Given the description of an element on the screen output the (x, y) to click on. 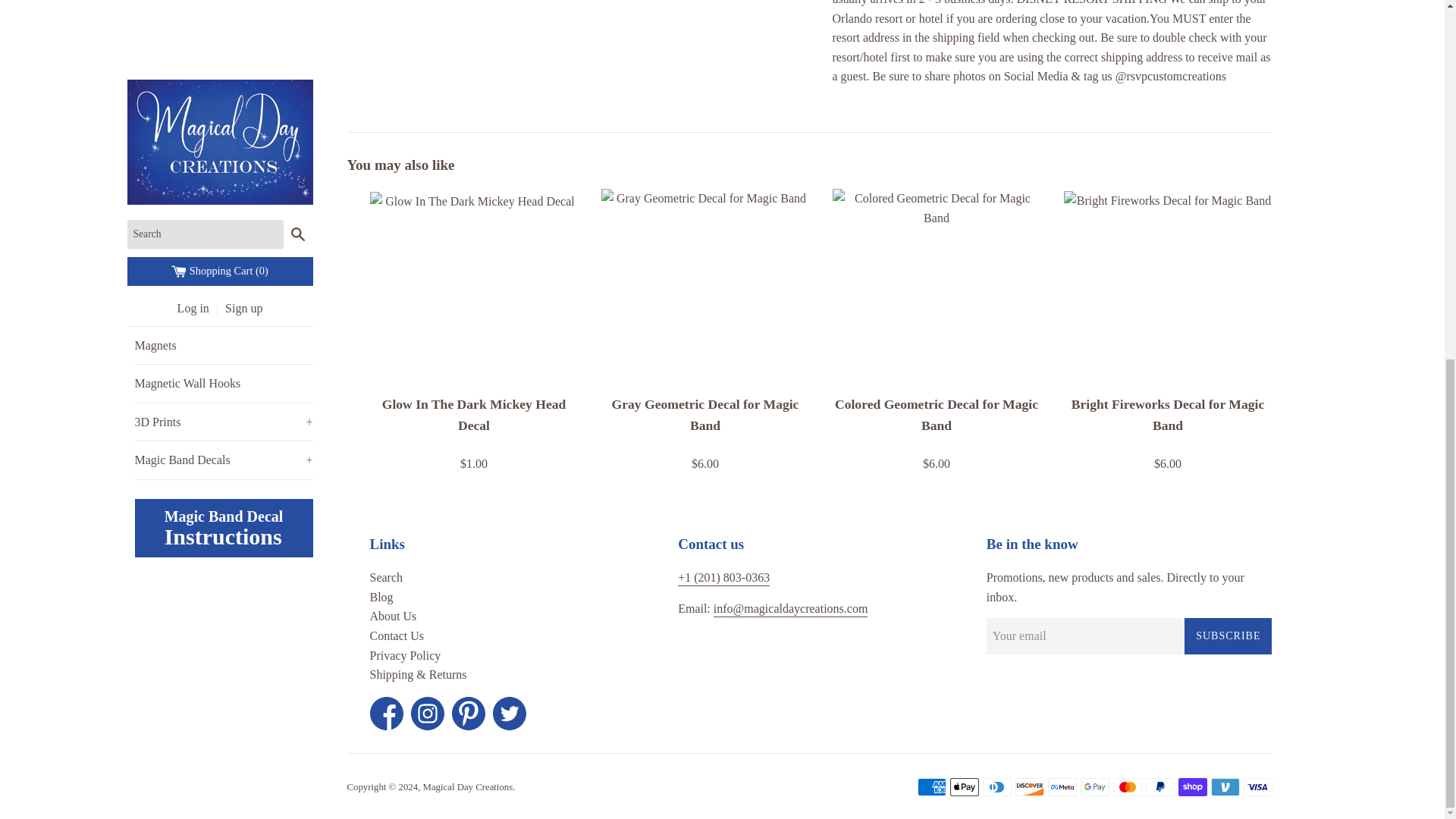
Colored Geometric Decal for Magic Band (936, 287)
Gray Geometric Decal for Magic Band (704, 287)
Glow In The Dark Mickey Head Decal (473, 287)
Bright Fireworks Decal for Magic Band (1166, 287)
tel:12018030363 (724, 578)
